Given the description of an element on the screen output the (x, y) to click on. 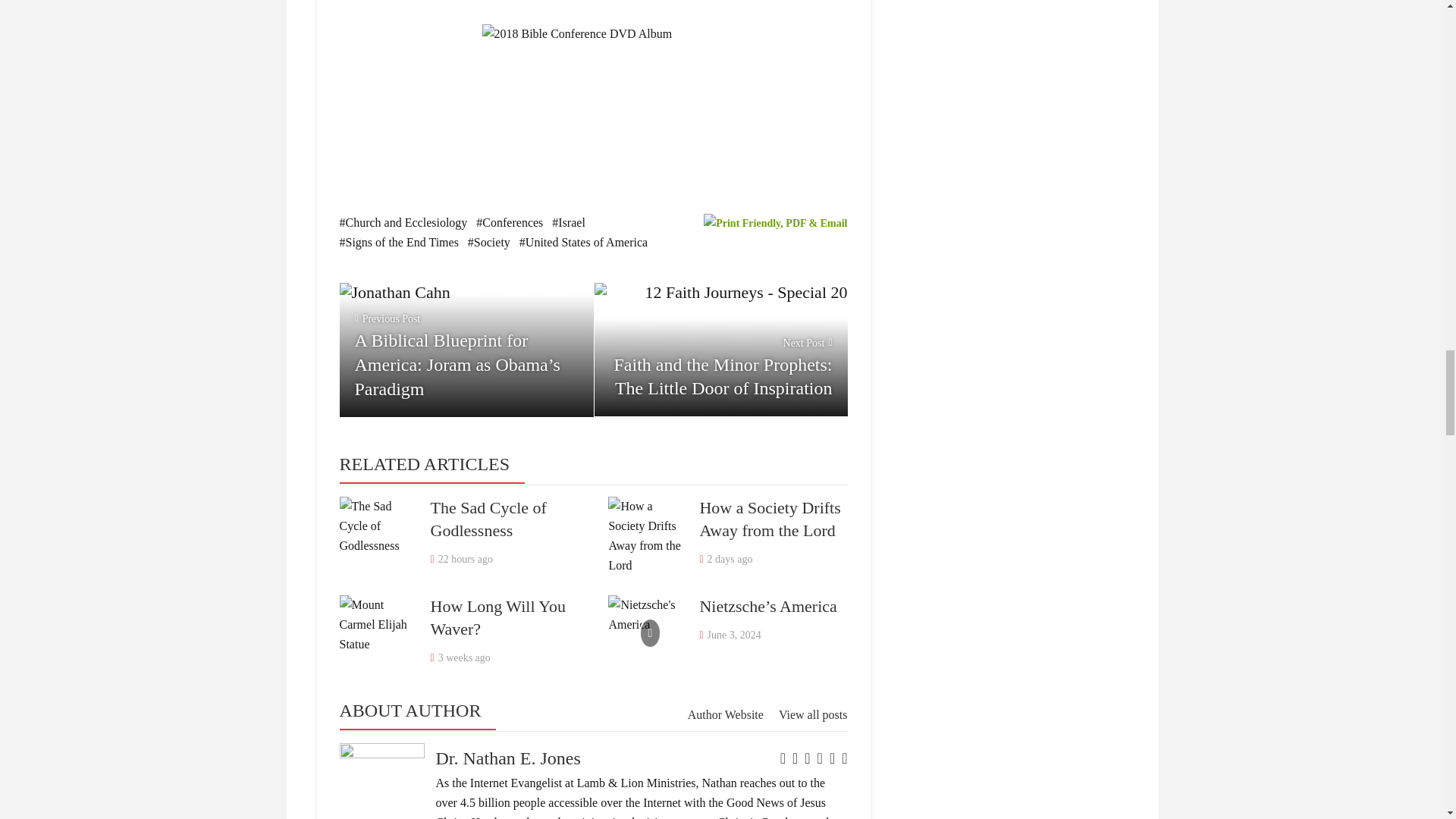
How a Society Drifts Away from the Lord (769, 518)
How Long Will You Waver? (376, 632)
How Long Will You Waver? (498, 617)
The Sad Cycle of Godlessness (376, 534)
The Sad Cycle of Godlessness (488, 518)
How a Society Drifts Away from the Lord (646, 534)
